Given the description of an element on the screen output the (x, y) to click on. 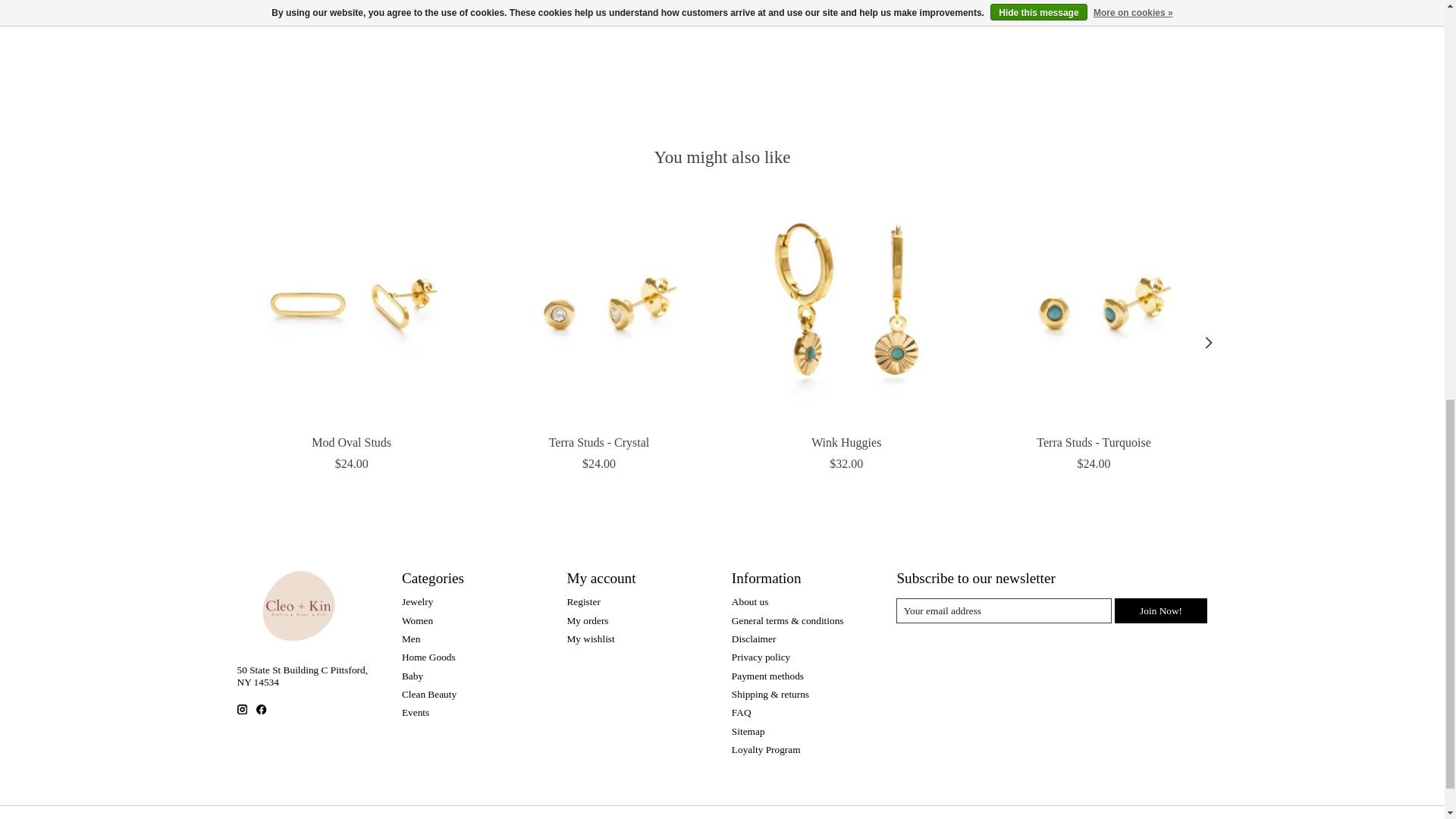
Wink Huggies (845, 309)
Terra Studs - Turquoise (1092, 309)
Terra Studs - Crystal (598, 309)
Mod Oval Studs (349, 309)
